Given the description of an element on the screen output the (x, y) to click on. 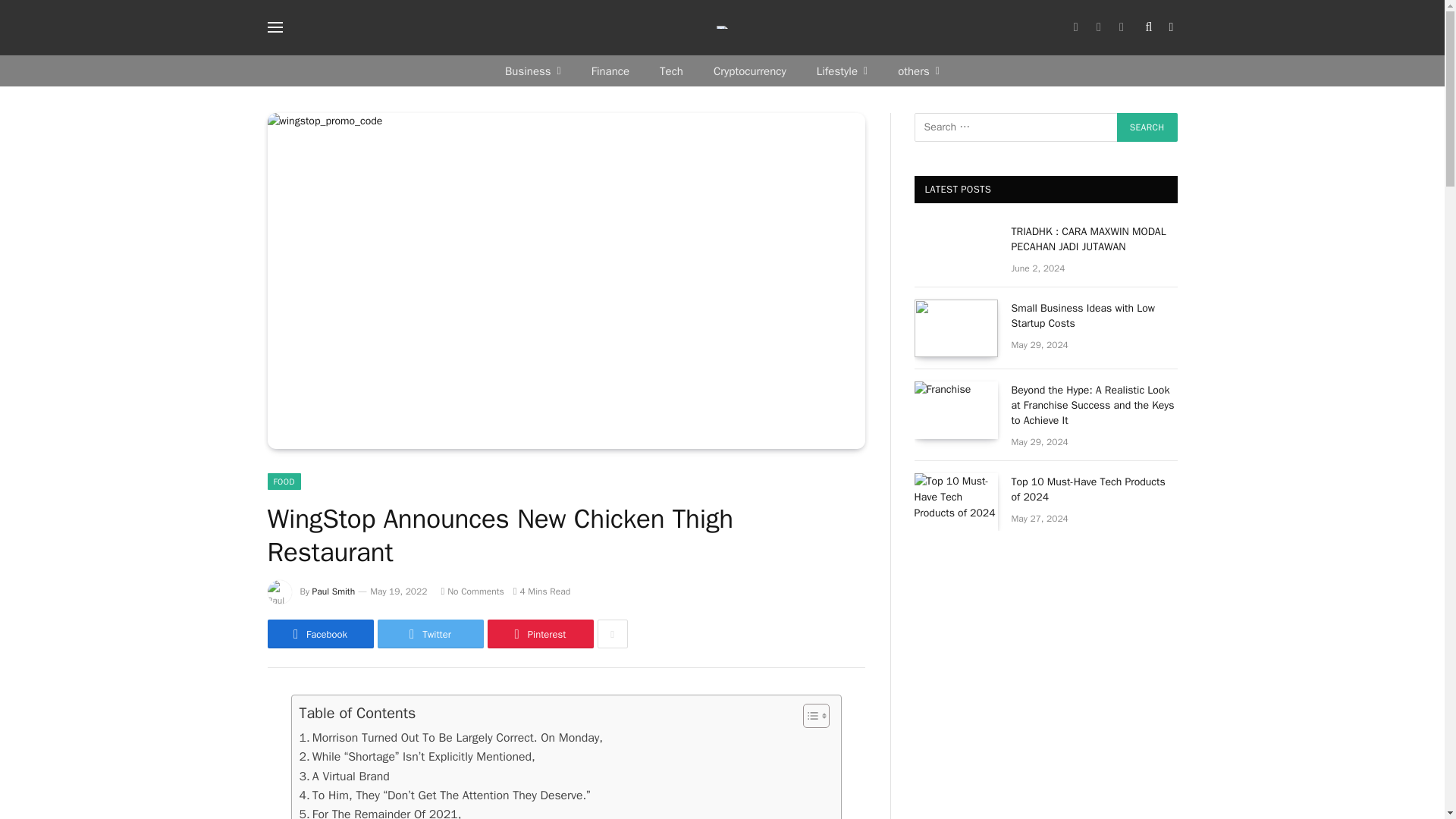
Tech (671, 70)
Switch to Dark Design - easier on eyes. (1168, 27)
Share on Facebook (319, 633)
FOOD (282, 481)
Show More Social Sharing (611, 633)
Business (532, 70)
Posts by Paul Smith (334, 591)
Search (1146, 127)
Finance (610, 70)
Cryptocurrency (750, 70)
Search (1146, 127)
No Comments (472, 591)
Paul Smith (334, 591)
Share on Pinterest (539, 633)
